Given the description of an element on the screen output the (x, y) to click on. 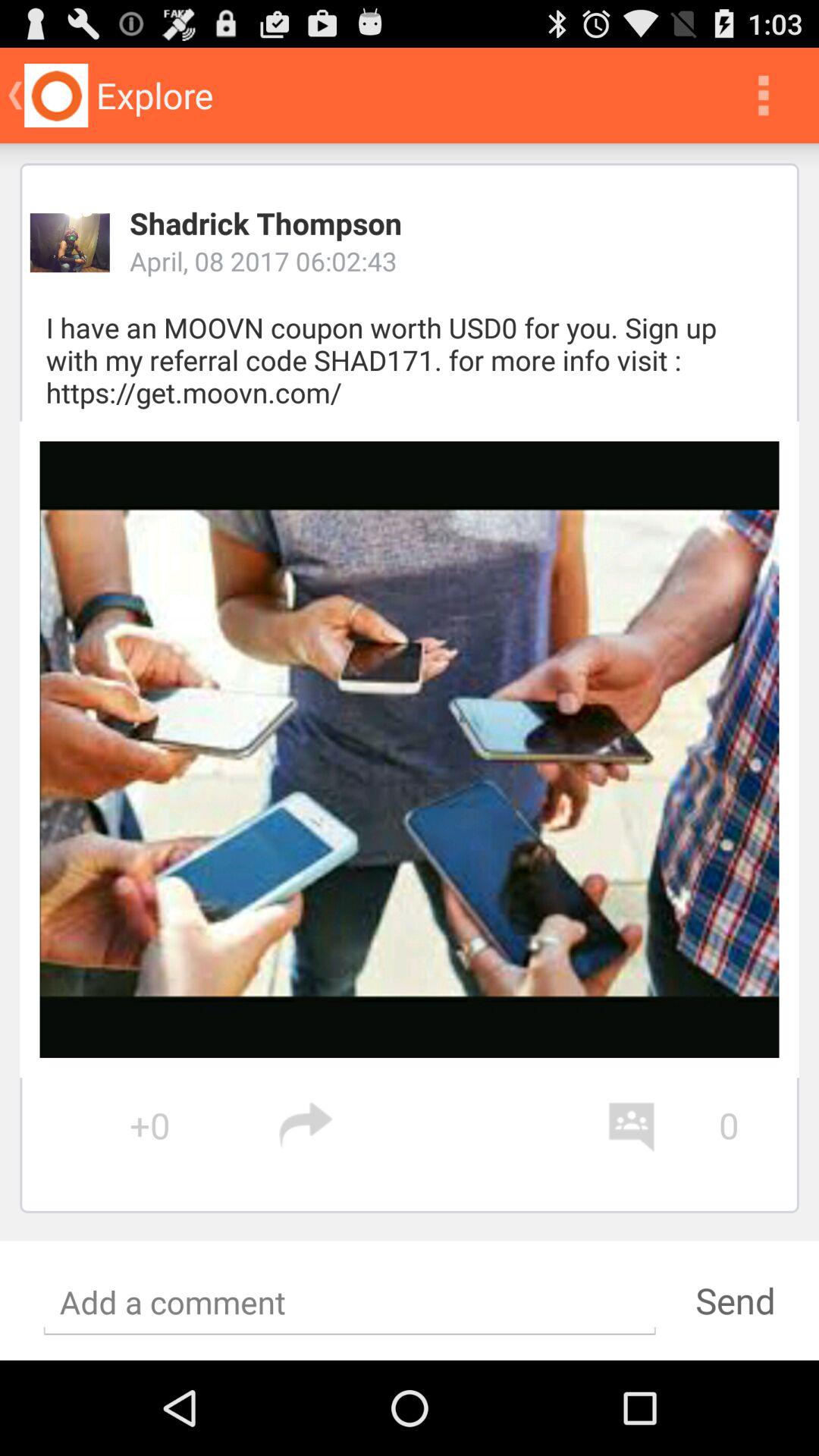
choose the button to the right of +0 button (442, 1125)
